Given the description of an element on the screen output the (x, y) to click on. 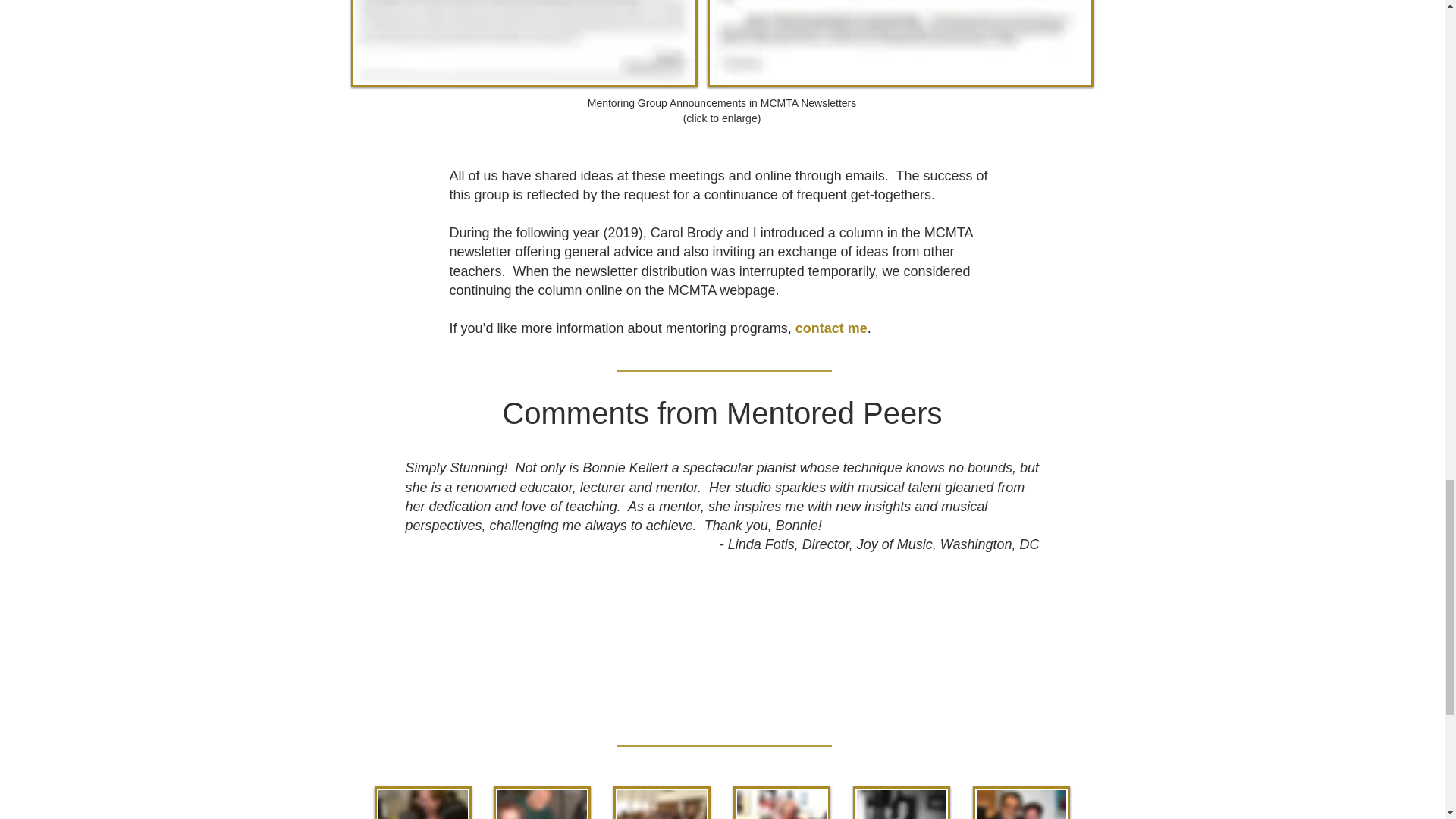
contact me (830, 328)
